Given the description of an element on the screen output the (x, y) to click on. 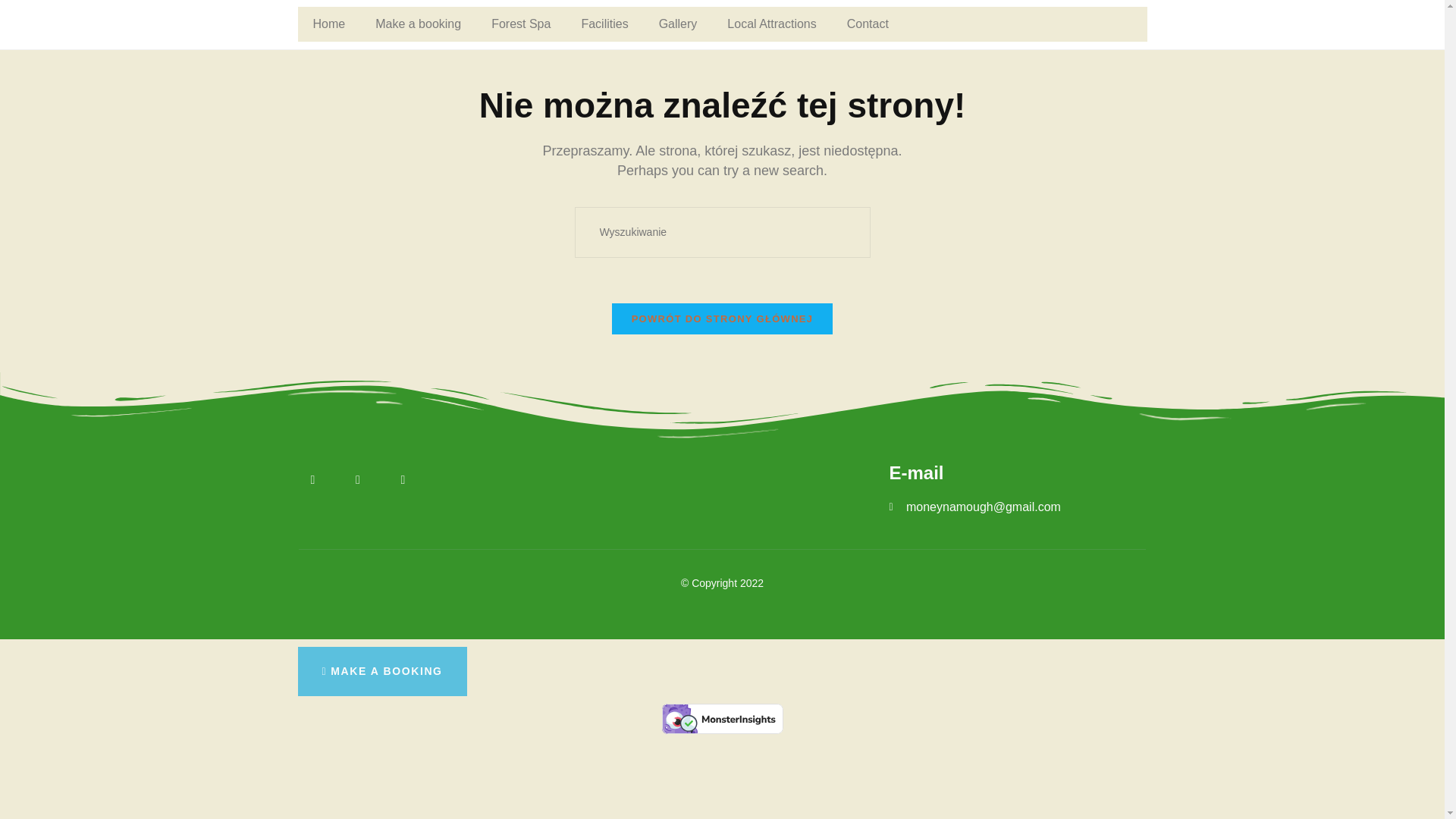
MAKE A BOOKING (381, 671)
Contact (867, 23)
Local Attractions (771, 23)
Facilities (604, 23)
Verified by MonsterInsights (722, 718)
Home (328, 23)
Gallery (678, 23)
Make a booking (417, 23)
Forest Spa (521, 23)
